Given the description of an element on the screen output the (x, y) to click on. 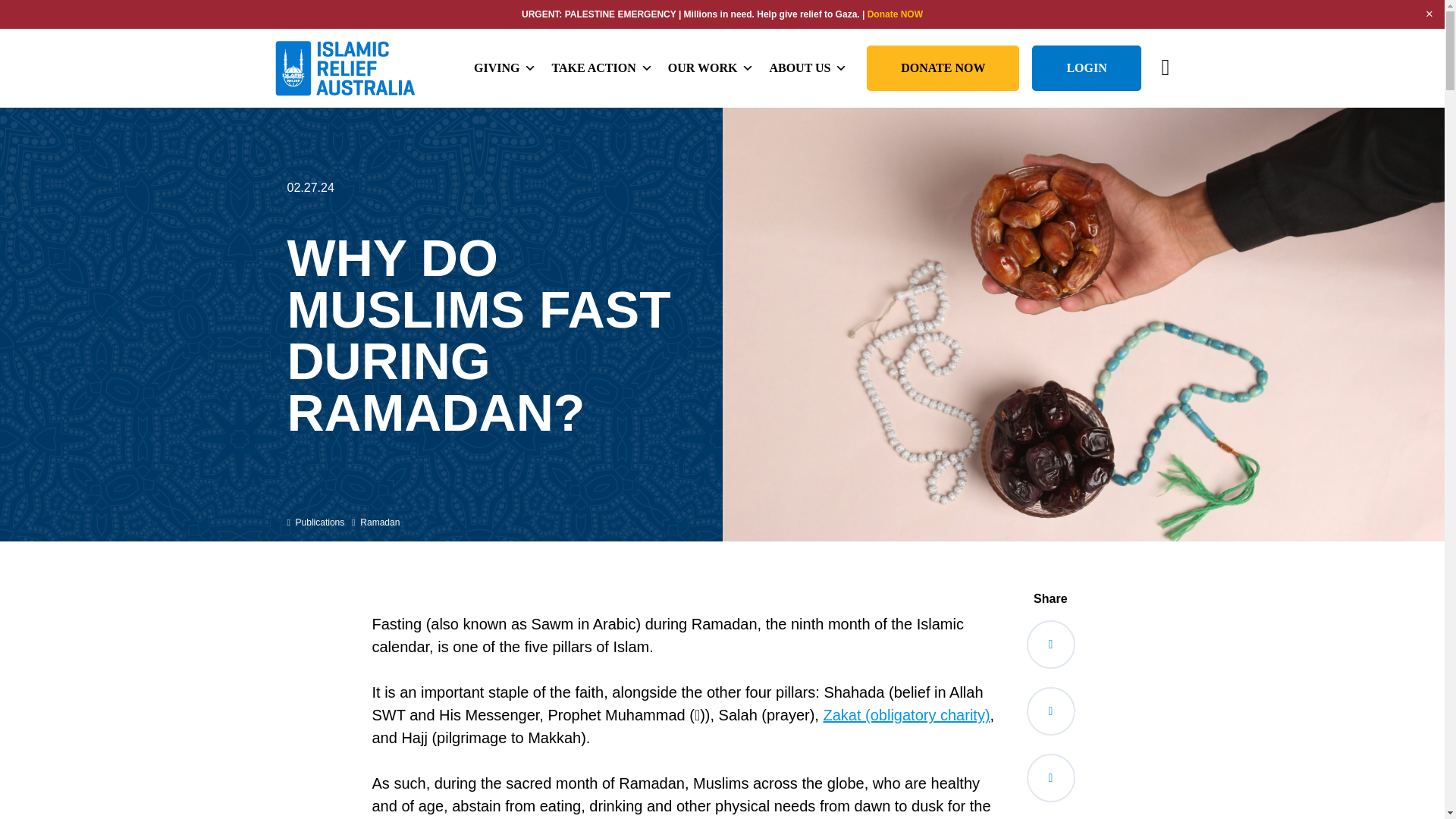
Donate NOW (895, 14)
GIVING (504, 68)
